Given the description of an element on the screen output the (x, y) to click on. 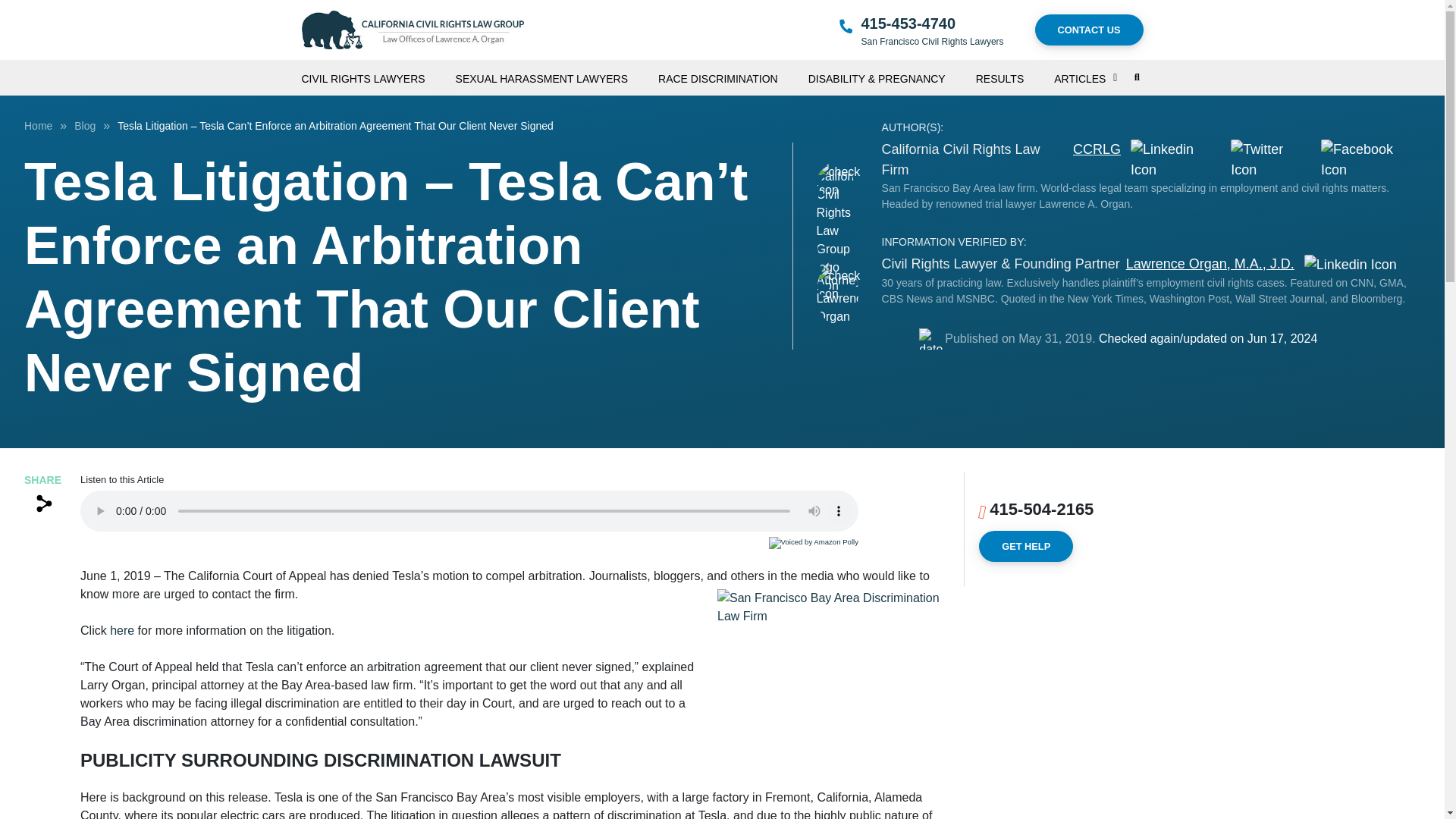
here (121, 630)
CIVIL RIGHTS LAWYERS (378, 72)
Home (38, 125)
415-504-2165 (1041, 508)
415-453-4740 (908, 23)
CCRLG (1097, 159)
SEXUAL HARASSMENT LAWYERS (556, 72)
RESULTS (1014, 72)
Search (1097, 136)
Lawrence Organ, M.A., J.D. (1209, 264)
